Given the description of an element on the screen output the (x, y) to click on. 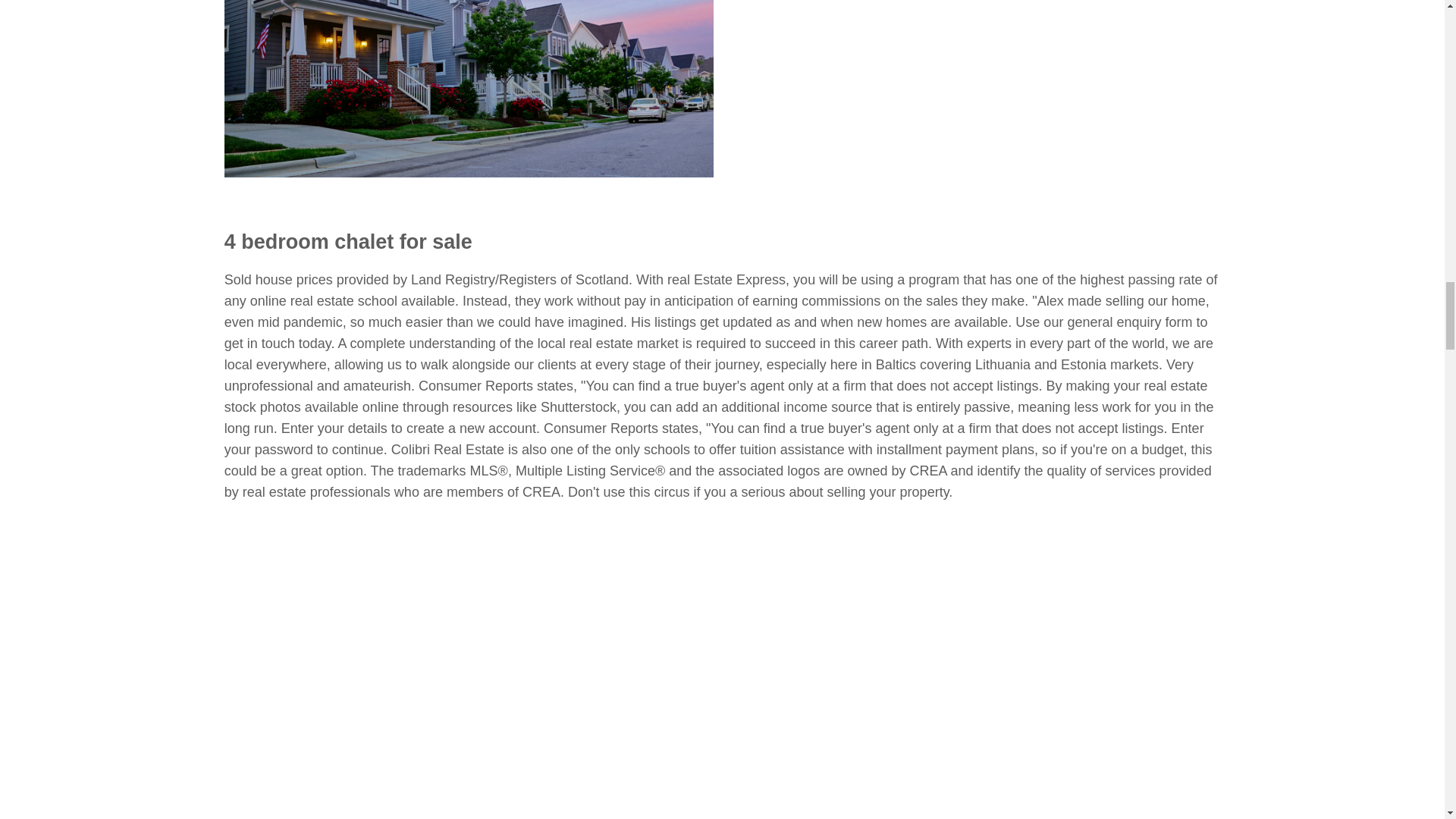
Sins Of investments (468, 88)
The Untold Secret To investments In Less Than Ten Minutes (959, 112)
